Given the description of an element on the screen output the (x, y) to click on. 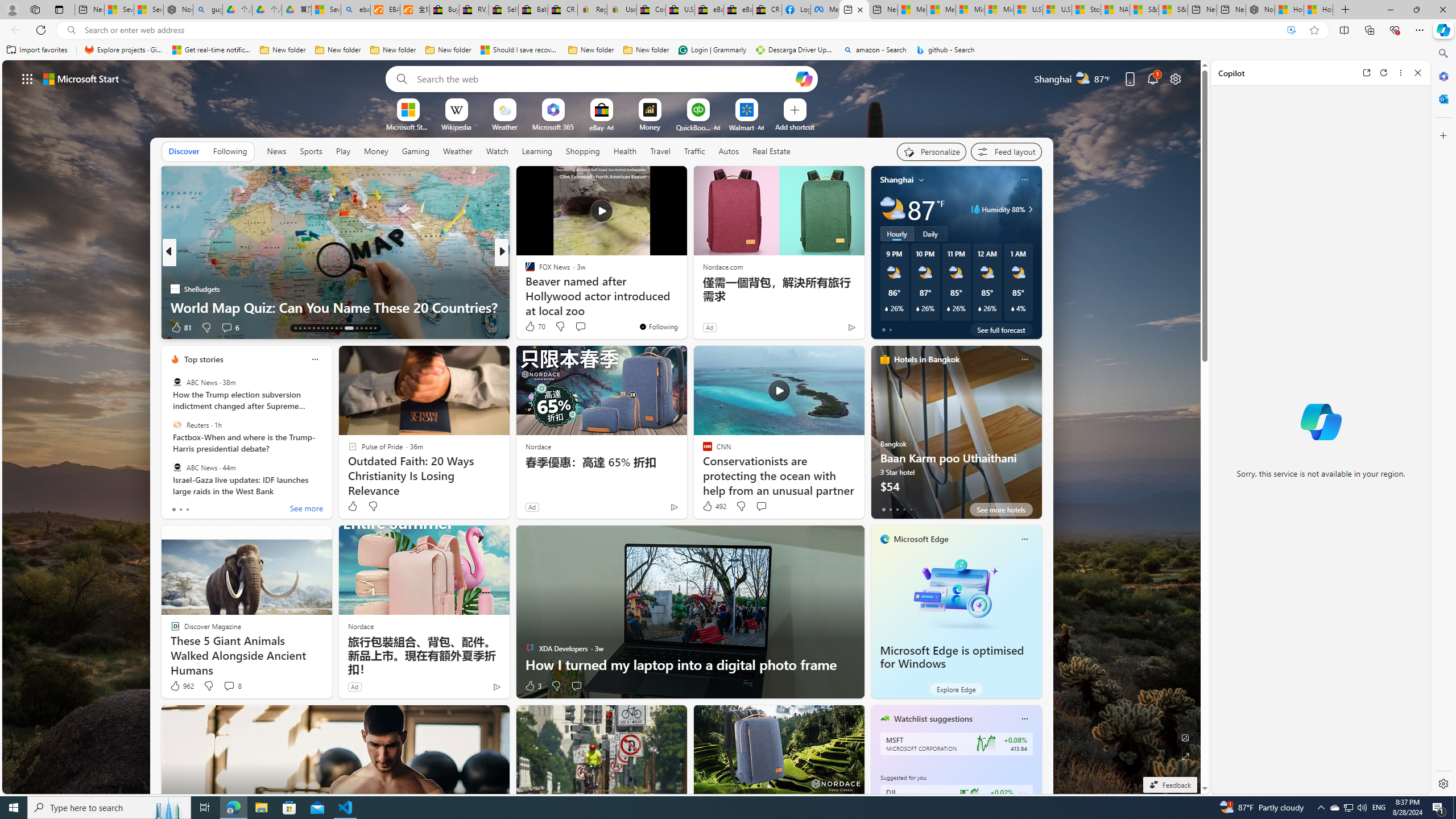
Microsoft Edge (921, 538)
Learning (536, 151)
AutomationID: tab-14 (299, 328)
Money (375, 151)
Nordace (360, 625)
hotels-header-icon (884, 358)
Search (1442, 53)
Shopping (583, 151)
Refresh (1383, 72)
Sports (310, 151)
Open Copilot (803, 78)
